Given the description of an element on the screen output the (x, y) to click on. 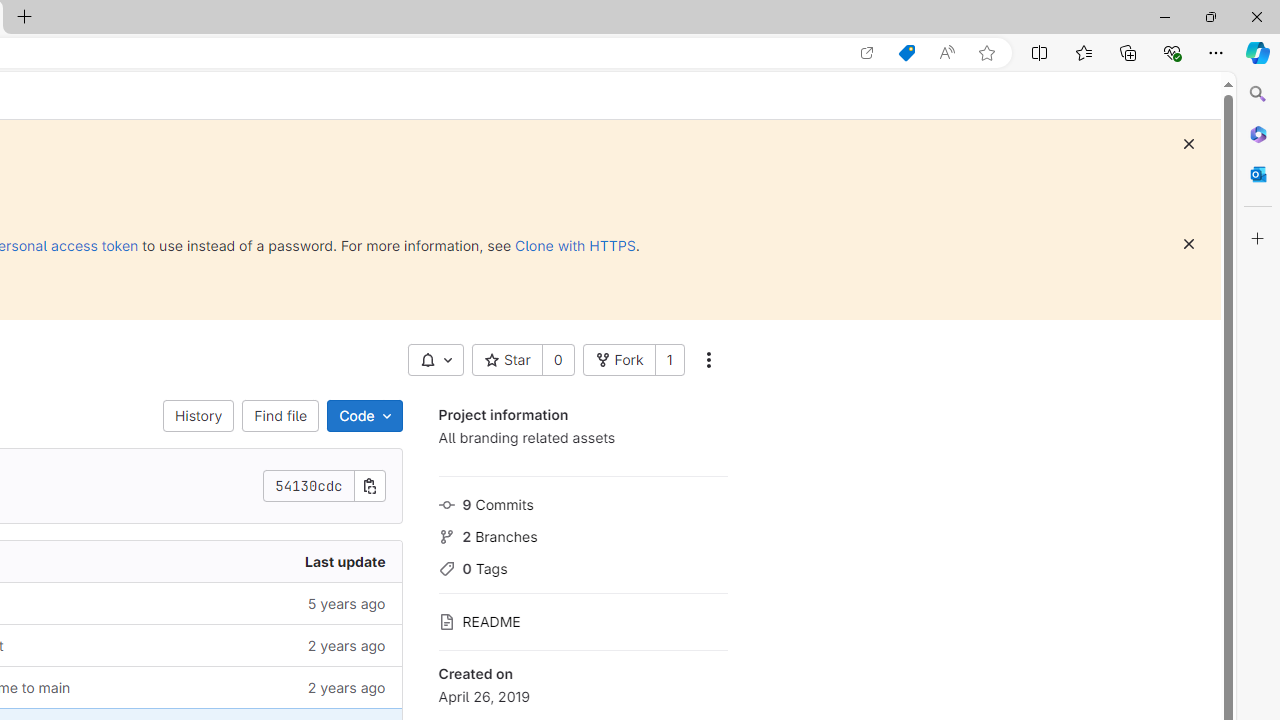
2 Branches (582, 534)
Last update (247, 561)
9 Commits (582, 502)
README (582, 620)
Class: s16 gl-icon gl-button-icon  (1188, 243)
Code (364, 416)
Clone with HTTPS (575, 245)
Copy commit SHA (369, 485)
